Given the description of an element on the screen output the (x, y) to click on. 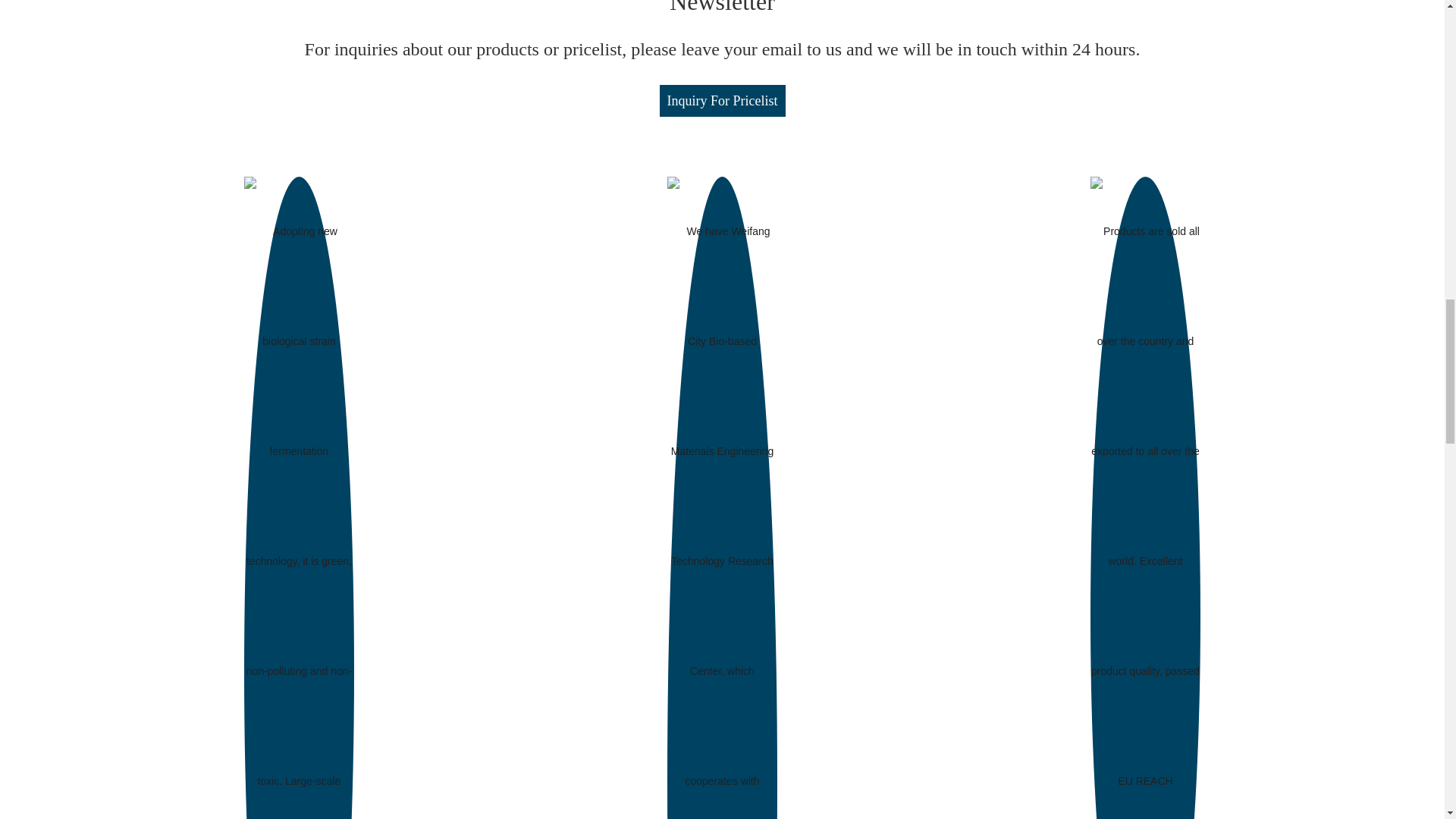
Inquiry For Pricelist (722, 101)
